Given the description of an element on the screen output the (x, y) to click on. 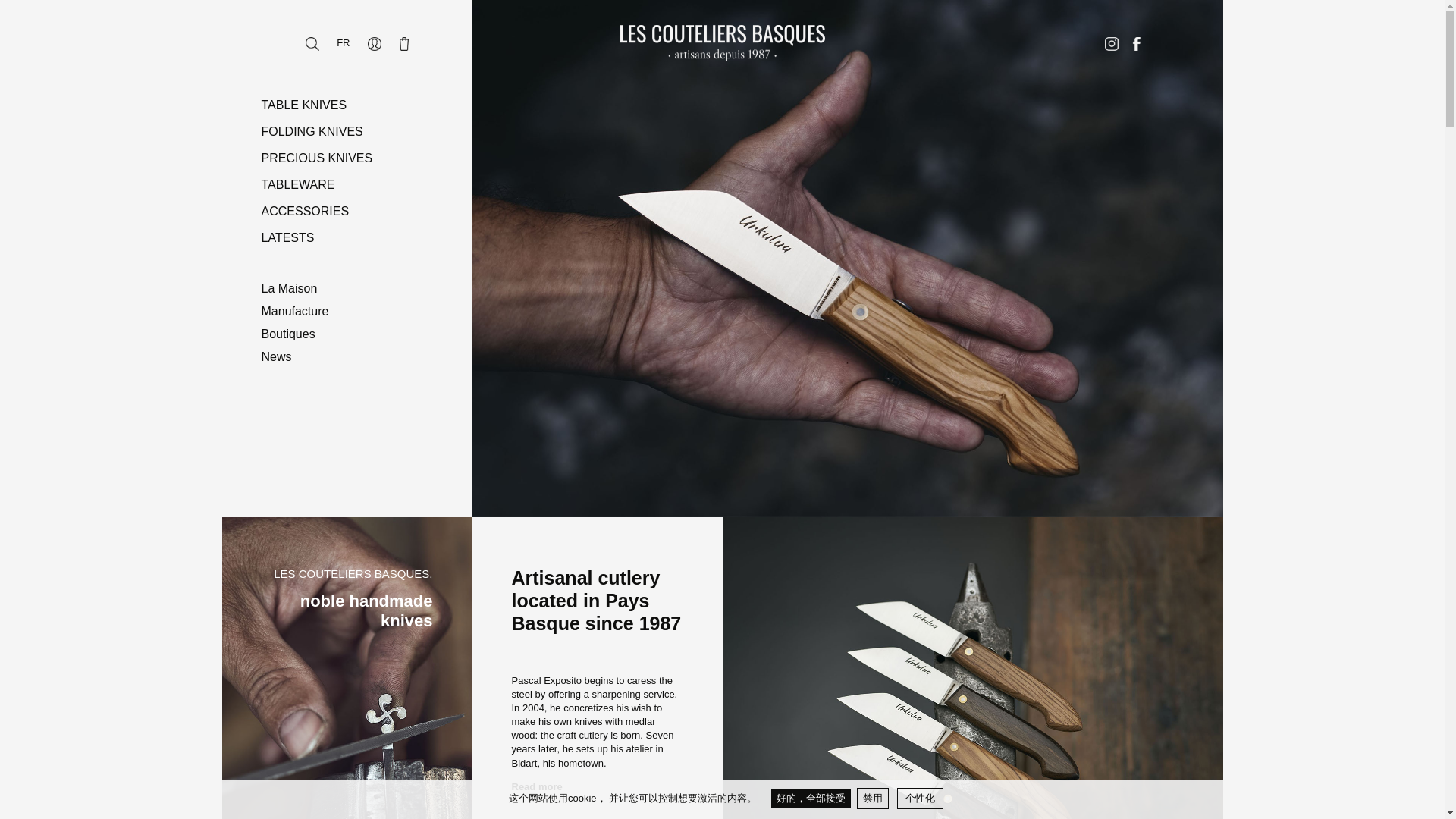
FOLDING KNIVES (360, 131)
News (360, 357)
Boutiques (360, 334)
FR (342, 42)
LATESTS (360, 238)
ACCESSORIES (360, 211)
TABLE KNIVES (360, 105)
Read more (596, 786)
La Maison (360, 289)
TABLEWARE (360, 185)
